Given the description of an element on the screen output the (x, y) to click on. 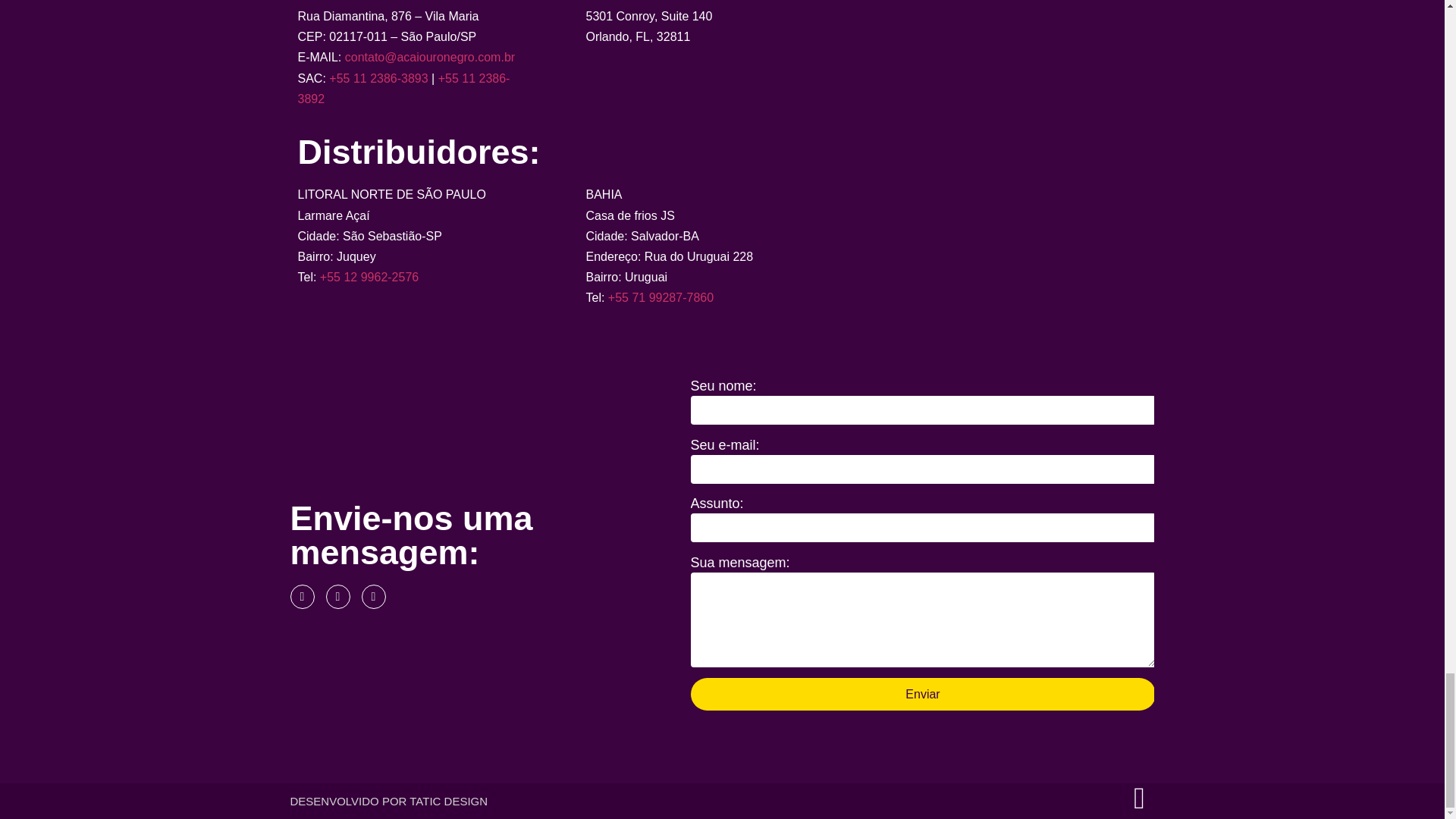
Enviar (922, 694)
